Given the description of an element on the screen output the (x, y) to click on. 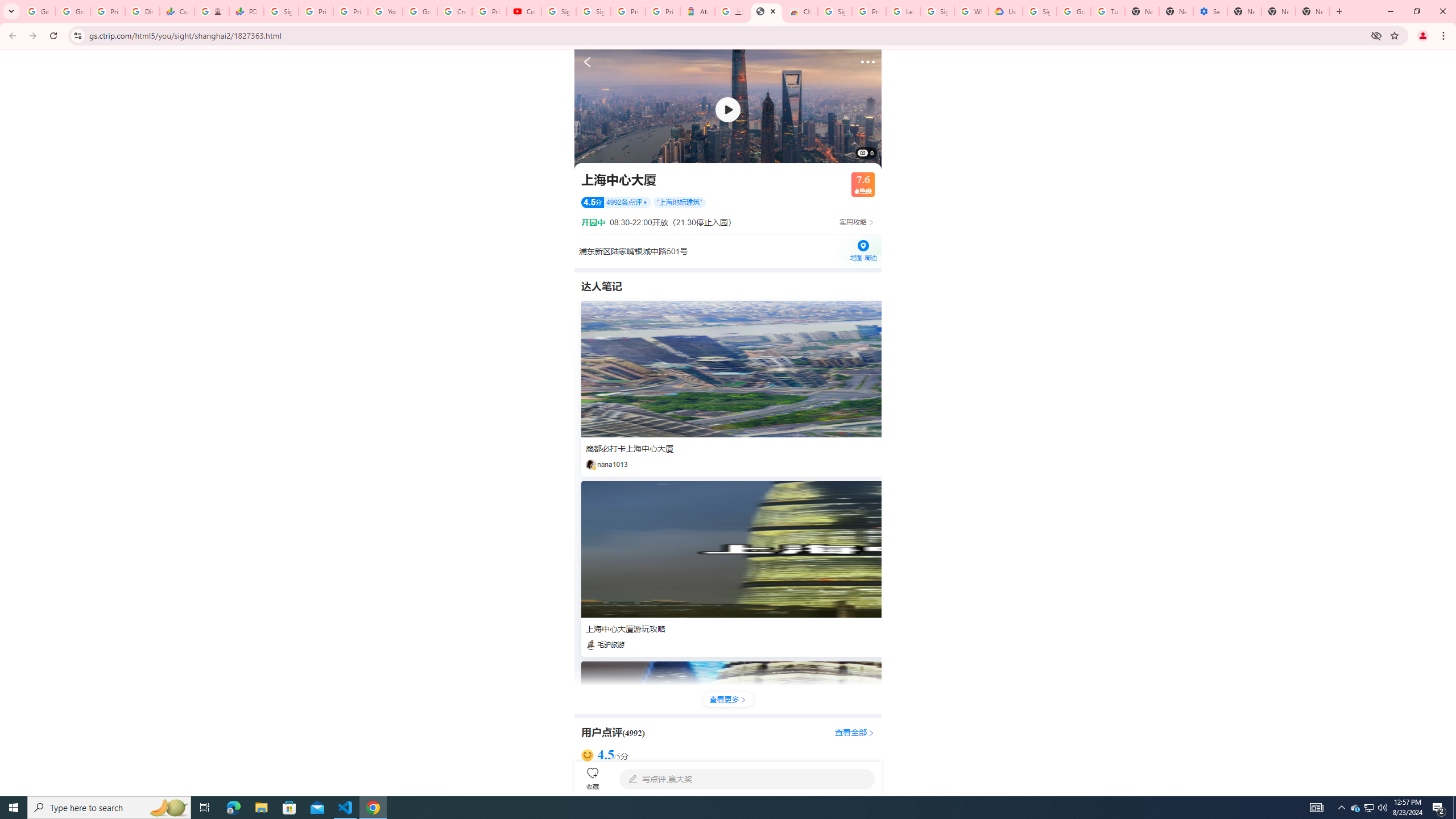
Settings - Addresses and more (1209, 11)
Sign in - Google Accounts (592, 11)
YouTube (384, 11)
New Tab (1243, 11)
Privacy Checkup (349, 11)
Sign in - Google Accounts (281, 11)
PDD Holdings Inc - ADR (PDD) Price & News - Google Finance (246, 11)
Create your Google Account (454, 11)
Google Account Help (1073, 11)
